Given the description of an element on the screen output the (x, y) to click on. 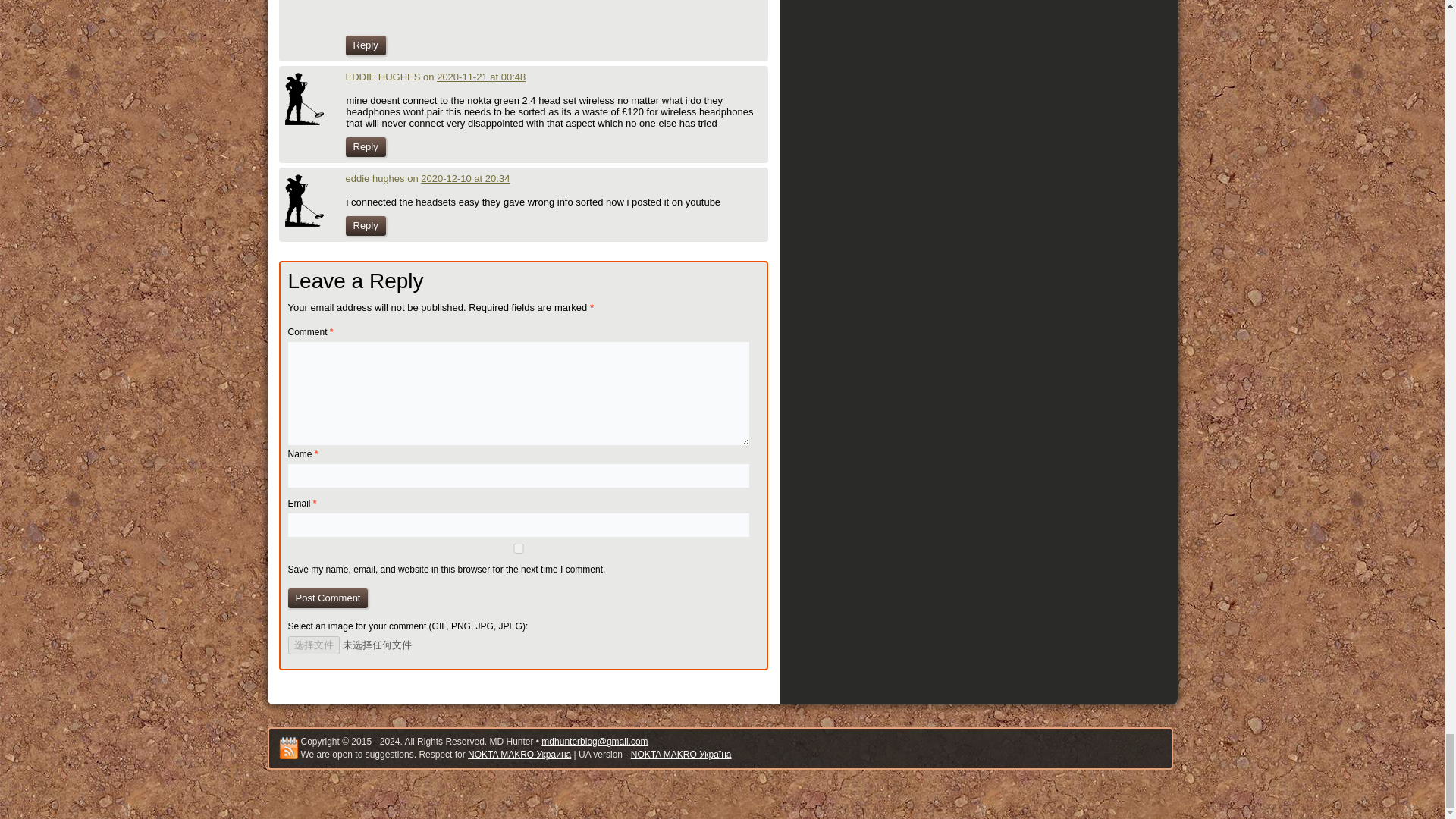
MD-Hunter Blog RSS Feed (287, 747)
yes (518, 548)
Post Comment (328, 598)
